Given the description of an element on the screen output the (x, y) to click on. 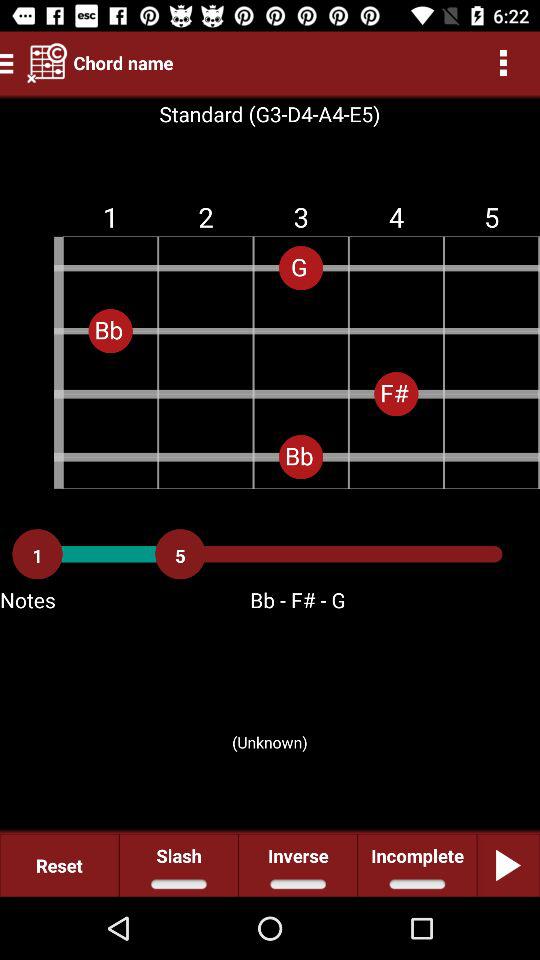
select the icon next to the reset icon (178, 864)
